Given the description of an element on the screen output the (x, y) to click on. 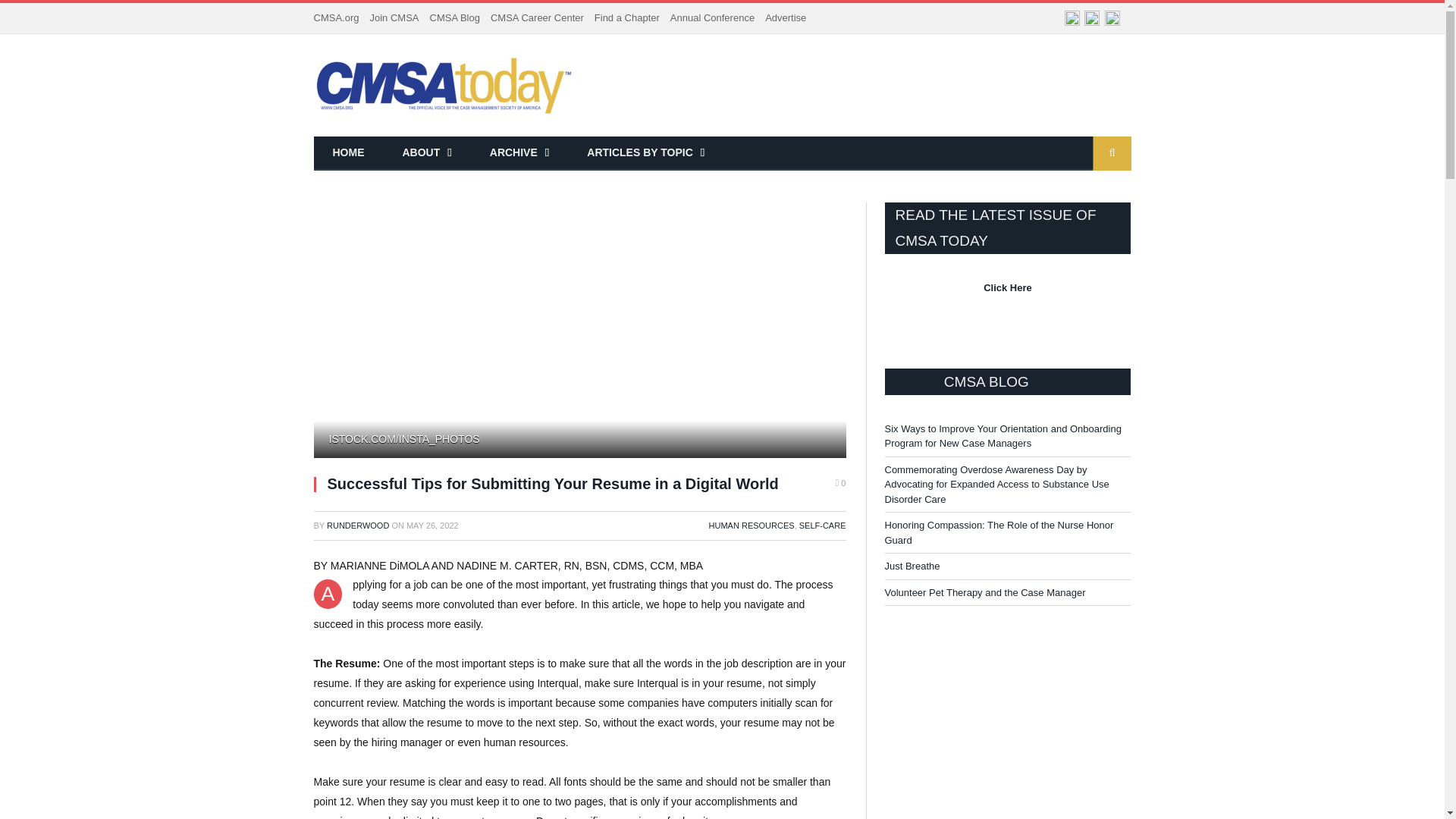
Case Management Society of America (446, 84)
Advertise (785, 17)
Annual Conference (711, 17)
CMSA Career Center (536, 17)
Find a Chapter (626, 17)
CMSA Blog (454, 17)
Search (1112, 153)
ARTICLES BY TOPIC (645, 153)
CMSA.org (336, 17)
